Given the description of an element on the screen output the (x, y) to click on. 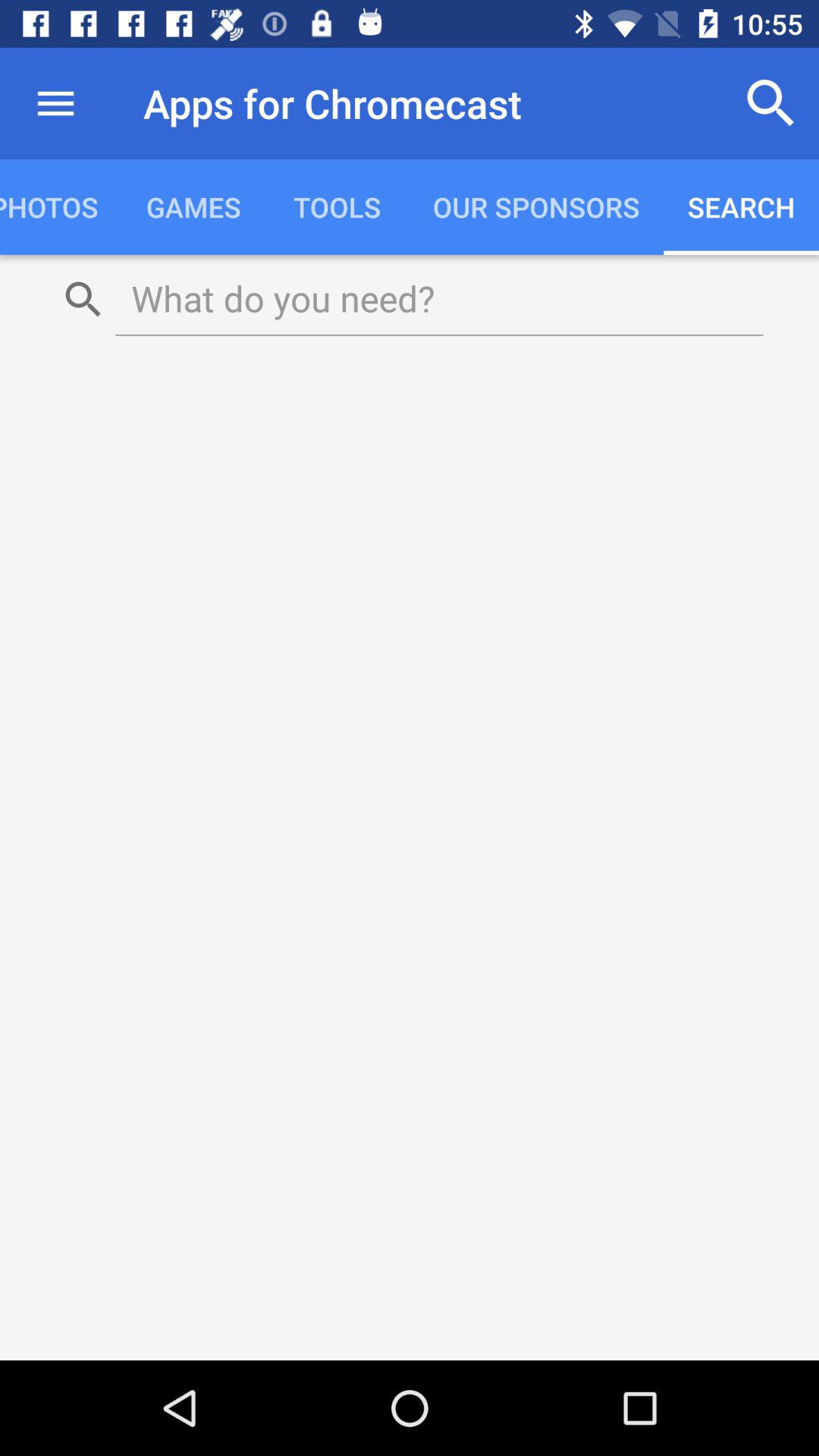
press the item above photos (55, 103)
